Given the description of an element on the screen output the (x, y) to click on. 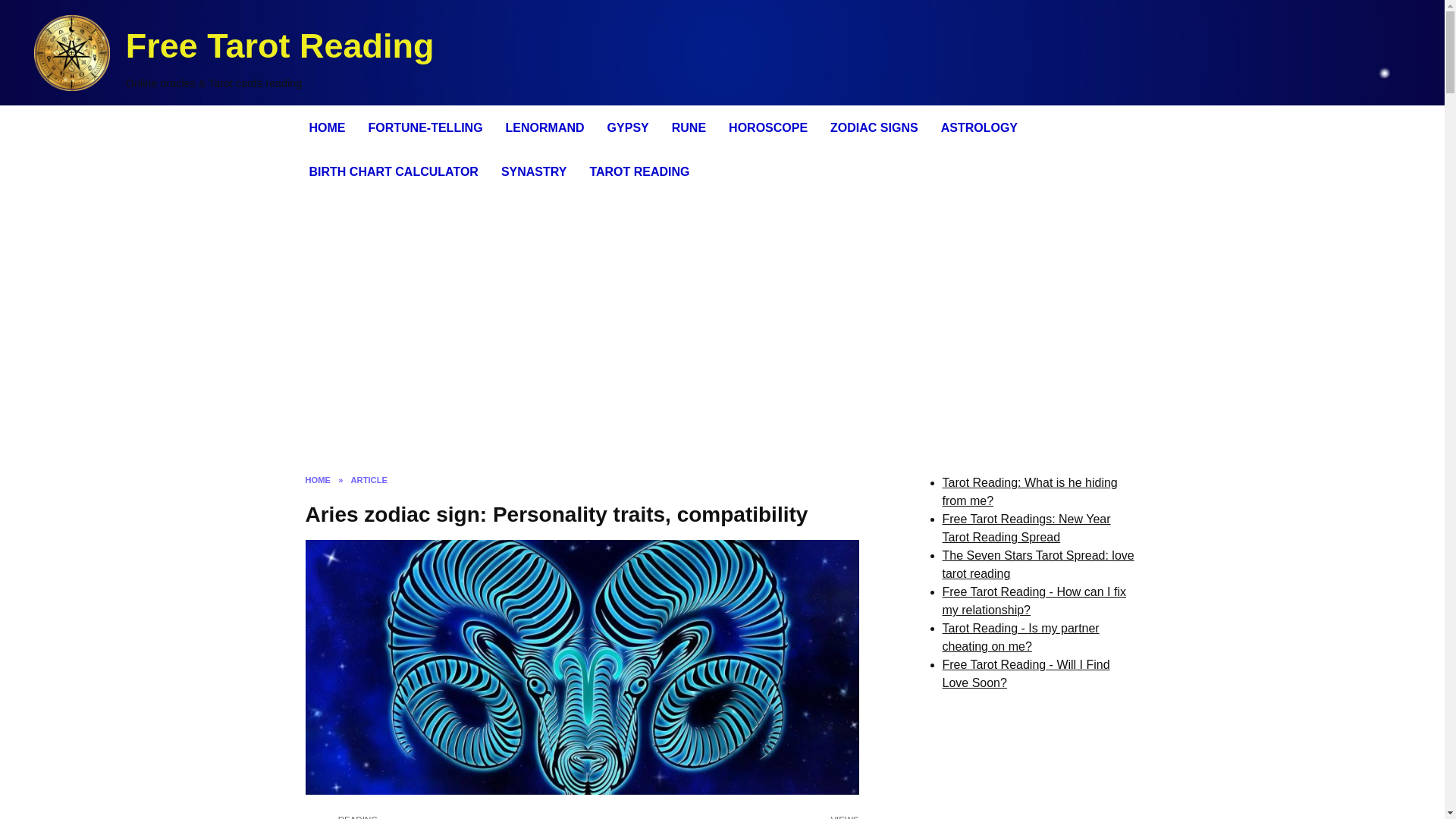
ASTROLOGY (979, 127)
BIRTH CHART CALCULATOR (393, 171)
TAROT READING (639, 171)
RUNE (689, 127)
HOME (326, 127)
GYPSY (628, 127)
ZODIAC SIGNS (874, 127)
LENORMAND (545, 127)
HOME (317, 479)
Free Tarot Reading (279, 45)
FORTUNE-TELLING (424, 127)
SYNASTRY (533, 171)
ARTICLE (368, 479)
HOROSCOPE (767, 127)
